Given the description of an element on the screen output the (x, y) to click on. 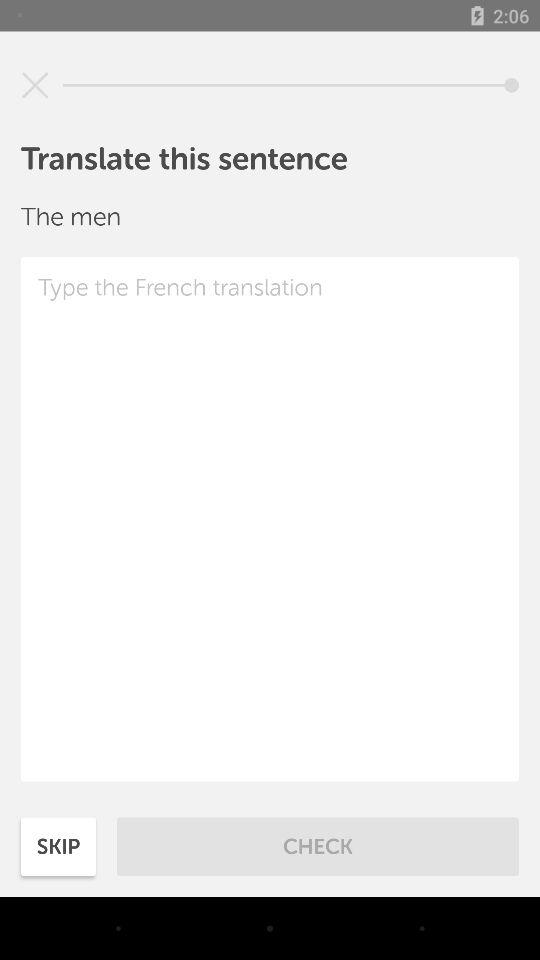
swipe until skip icon (58, 846)
